Given the description of an element on the screen output the (x, y) to click on. 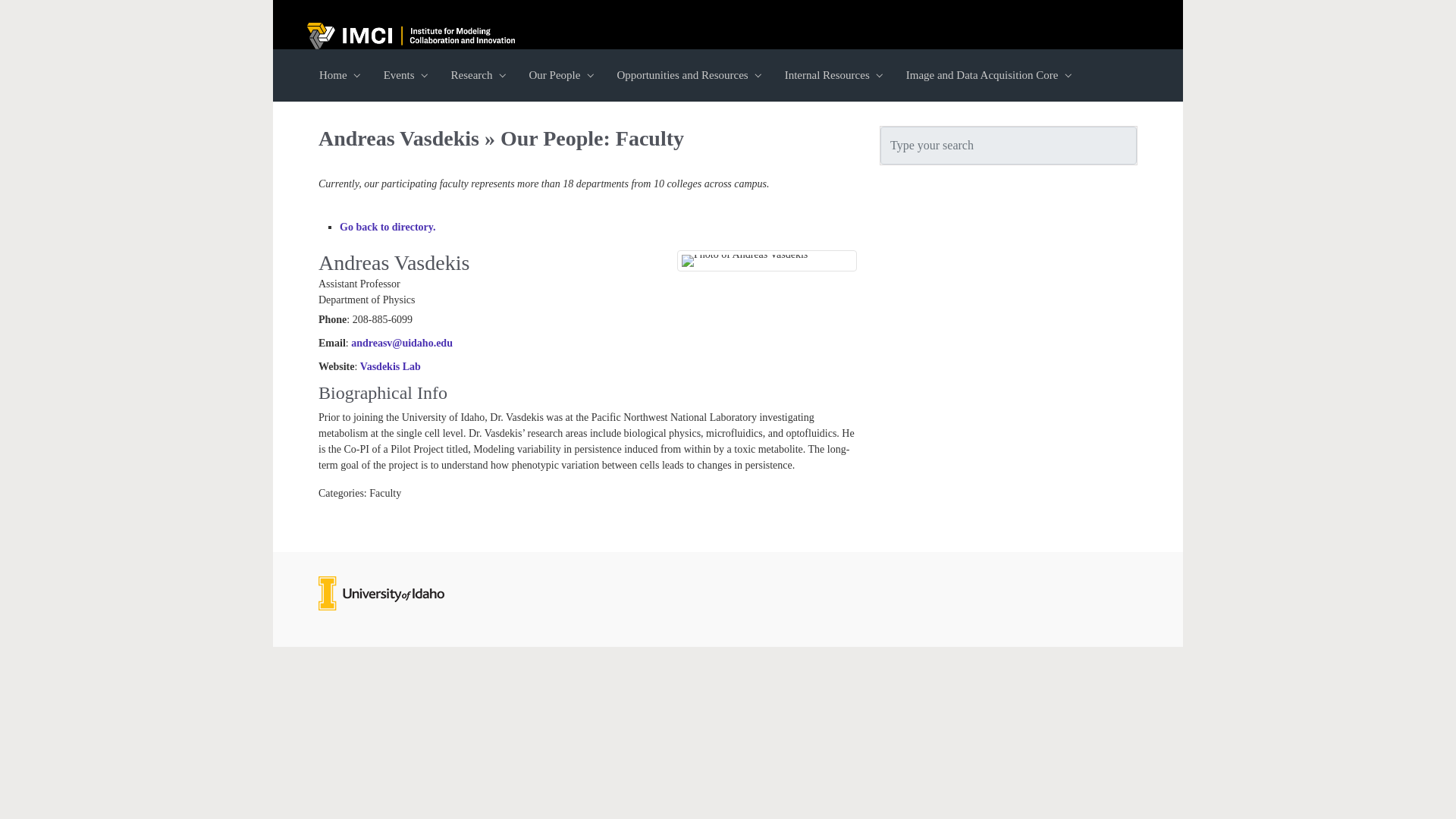
Home (339, 75)
Andreas Vasdekis work email. (401, 342)
Research (477, 75)
Photo of Andreas Vasdekis (744, 260)
Events (404, 75)
Opportunities and Resources (687, 75)
Our People (560, 75)
